Given the description of an element on the screen output the (x, y) to click on. 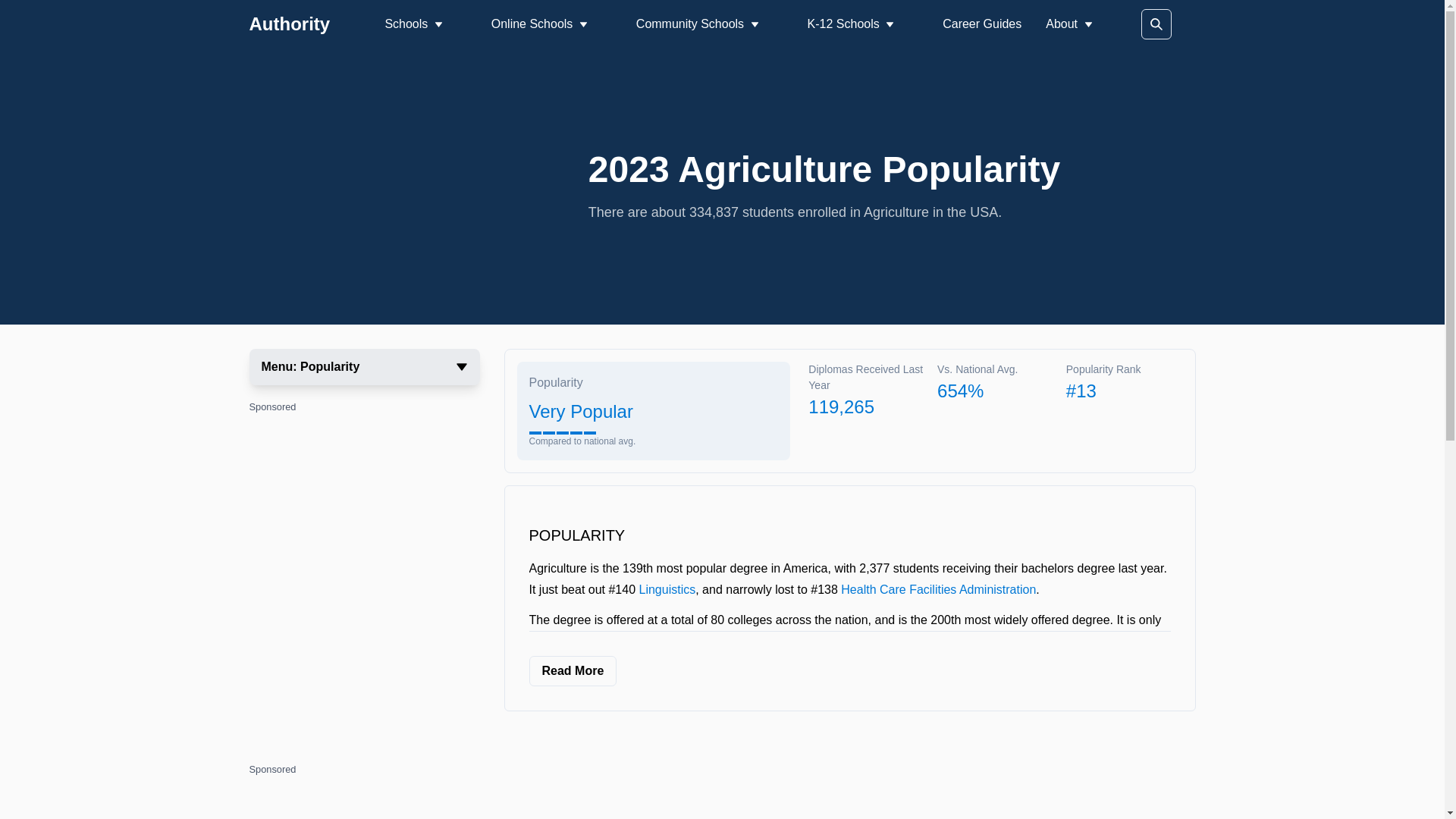
K-12 Schools (851, 24)
Read More (573, 671)
Schools (413, 24)
Linguistics (667, 589)
Community Schools (697, 24)
Career Guides (982, 23)
Authority (289, 23)
Online Schools (540, 24)
Health Care Facilities Administration (938, 589)
About (1068, 24)
